Given the description of an element on the screen output the (x, y) to click on. 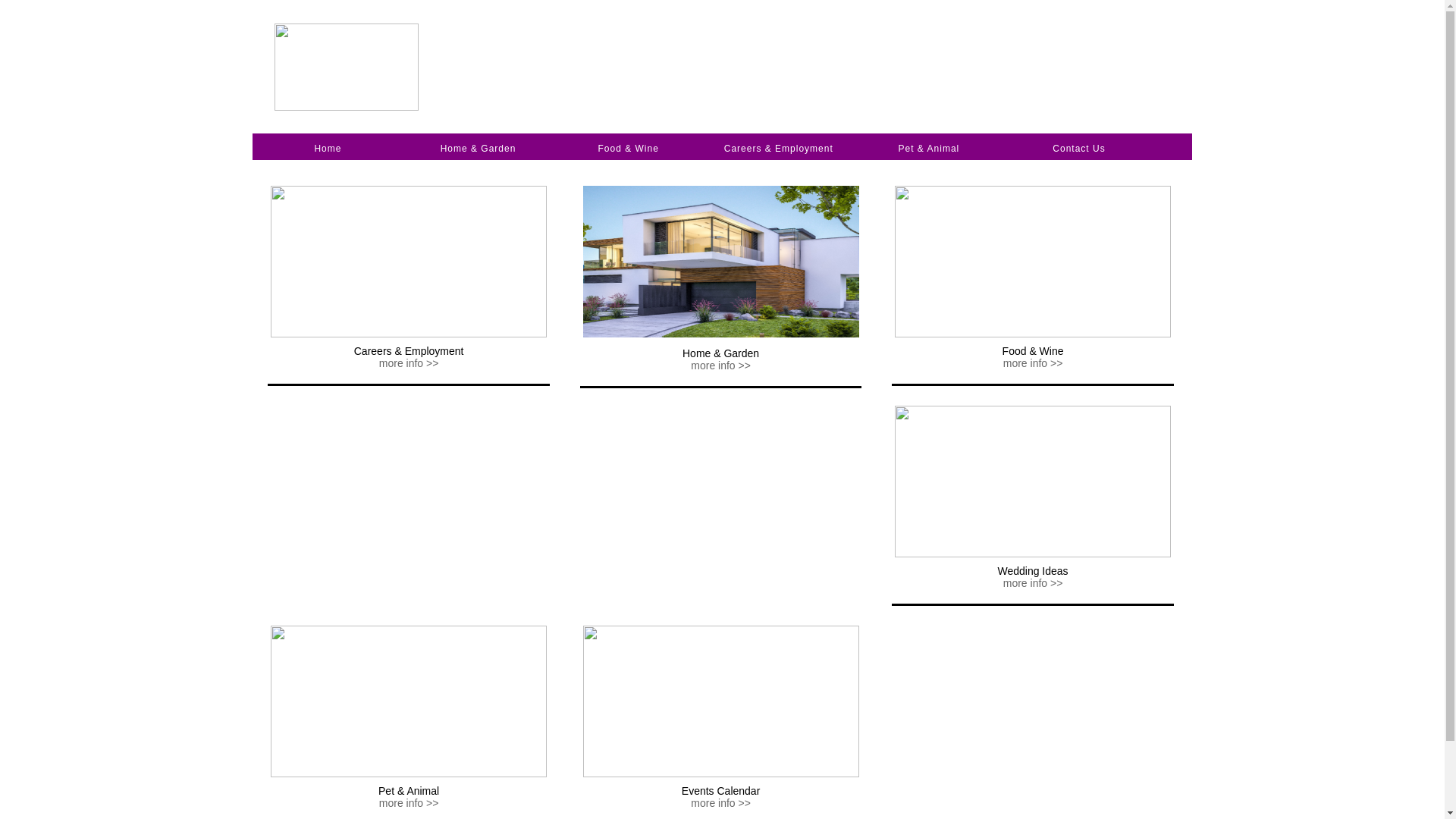
Contact Us Element type: text (1078, 148)
Home Element type: text (327, 148)
more info >> Element type: text (409, 363)
more info >> Element type: text (720, 365)
Pet & Animal Element type: text (929, 148)
more info >> Element type: text (1033, 363)
more info >> Element type: text (1033, 583)
Food & Wine Element type: text (627, 148)
Careers & Employment Element type: text (778, 148)
Home & Garden Element type: text (478, 148)
more info >> Element type: text (409, 803)
more info >> Element type: text (720, 803)
